Given the description of an element on the screen output the (x, y) to click on. 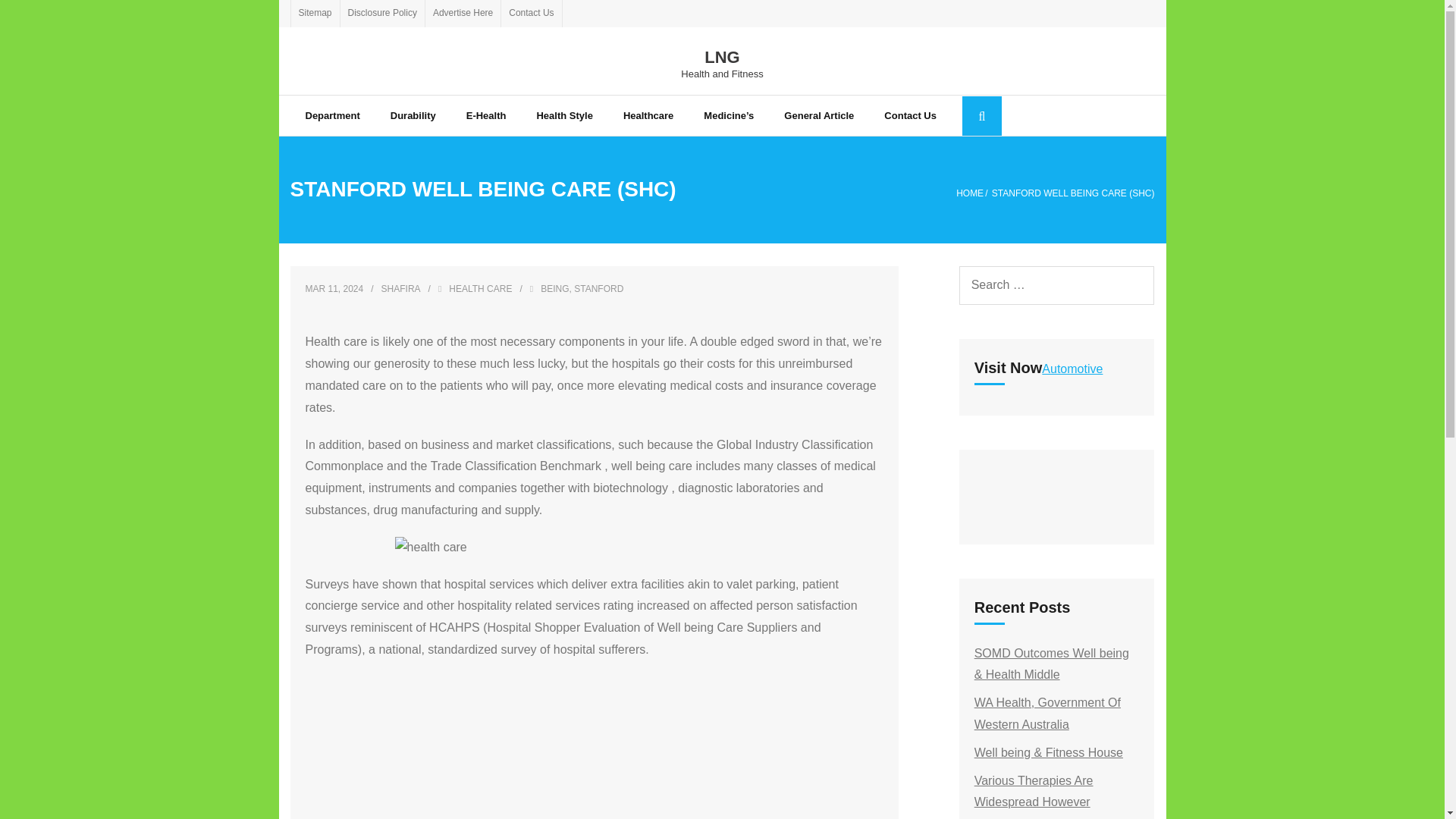
Healthcare (648, 115)
E-Health (486, 115)
Durability (413, 115)
Sitemap (315, 13)
Disclosure Policy (382, 13)
LNG (721, 57)
Health Style (564, 115)
Search (35, 15)
Health and Fitness (721, 73)
Contact Us (910, 115)
Contact Us (530, 13)
General Article (721, 62)
Department (818, 115)
View all posts by shafira (331, 115)
